Given the description of an element on the screen output the (x, y) to click on. 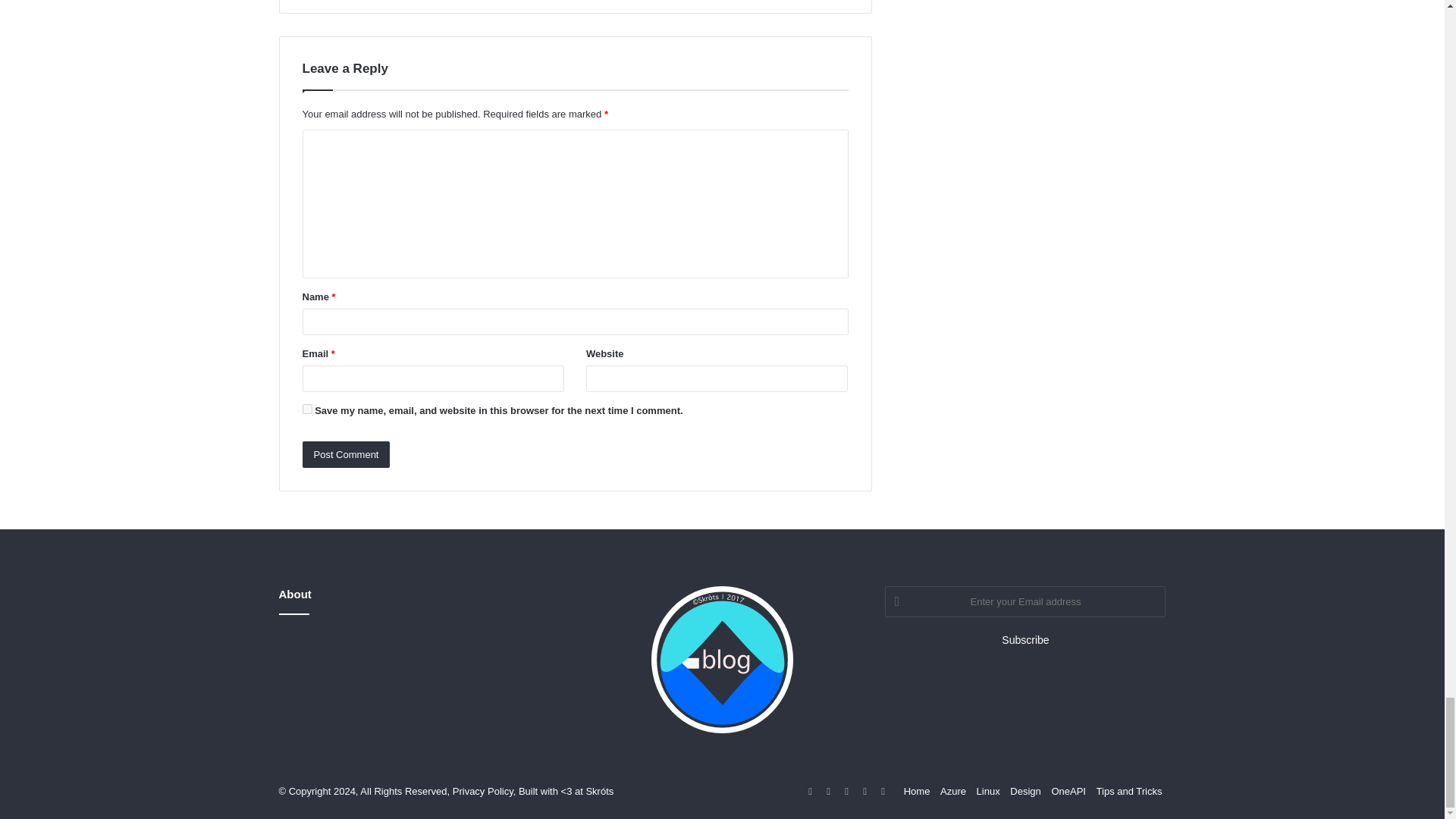
yes (306, 409)
Subscribe (1025, 640)
Post Comment (345, 454)
